Given the description of an element on the screen output the (x, y) to click on. 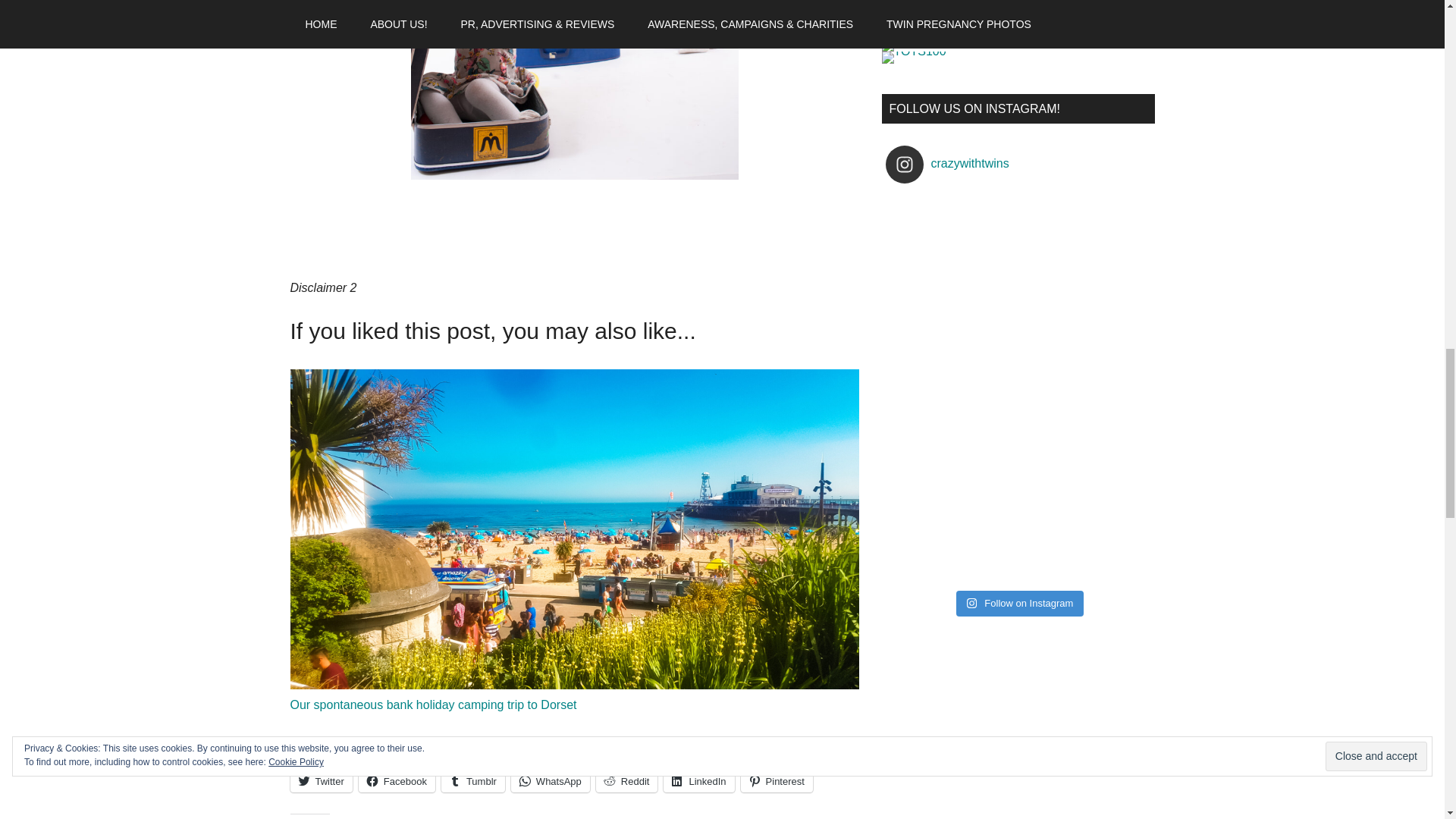
Click to share on Reddit (626, 780)
Brilliance in Blogging (981, 29)
Click to share on Twitter (320, 780)
TOTS 100 - UK Parent Blogs (943, 38)
Reddit (626, 780)
Our spontaneous bank holiday camping trip to Dorset (432, 704)
TOTS100 - UK Parent Blogs (943, 45)
Brilliance in Blogging (984, 9)
Facebook (396, 780)
Twitter (320, 780)
Click to share on LinkedIn (698, 780)
Click to share on Pinterest (776, 780)
Click to share on Facebook (396, 780)
WhatsApp (550, 780)
LinkedIn (698, 780)
